Given the description of an element on the screen output the (x, y) to click on. 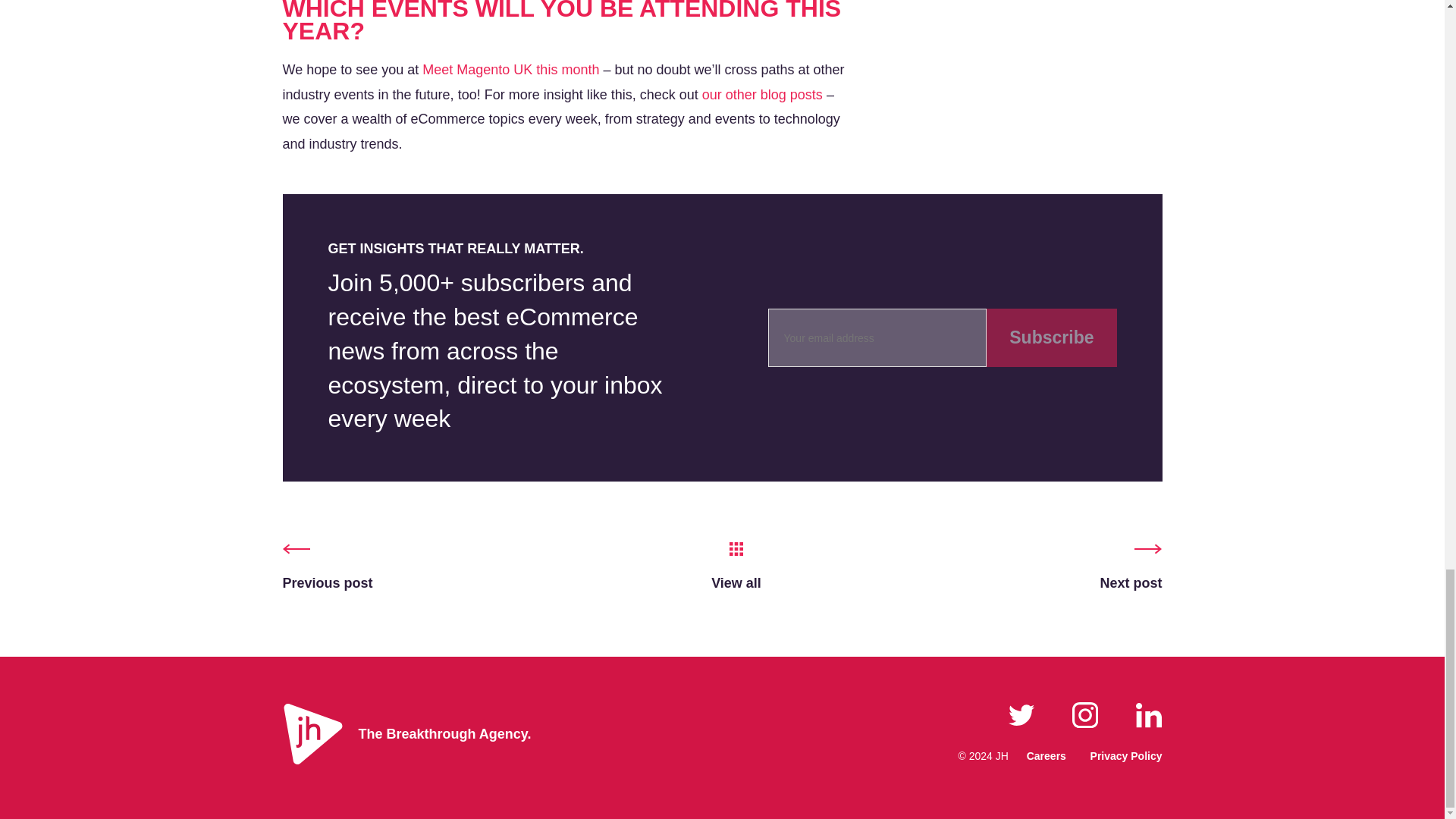
Privacy Policy (1125, 755)
View all (736, 568)
Meet Magento UK this month (510, 69)
Next post (1130, 568)
Previous post (327, 568)
Careers (1045, 755)
Subscribe (1051, 337)
Subscribe (1051, 337)
our other blog posts (761, 94)
